Given the description of an element on the screen output the (x, y) to click on. 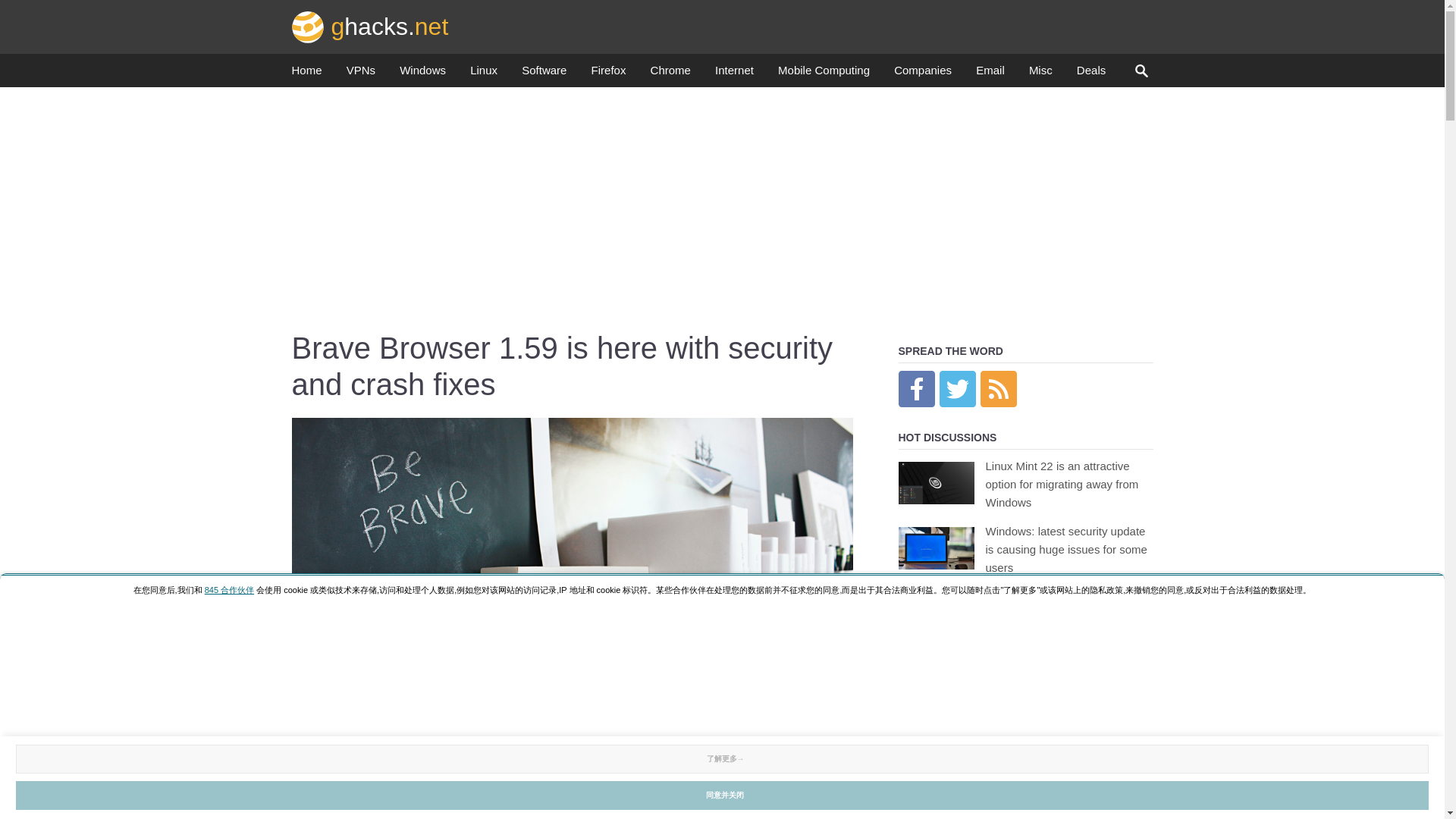
Internet (734, 73)
Mobile Computing (823, 73)
Deals (1091, 73)
Chrome (670, 73)
Email (989, 73)
VPNs (360, 73)
Misc (1040, 73)
Companies (922, 73)
Software (543, 73)
ghacks.net (369, 26)
Home (306, 73)
Windows (421, 73)
Firefox (608, 73)
Linux (483, 73)
